Given the description of an element on the screen output the (x, y) to click on. 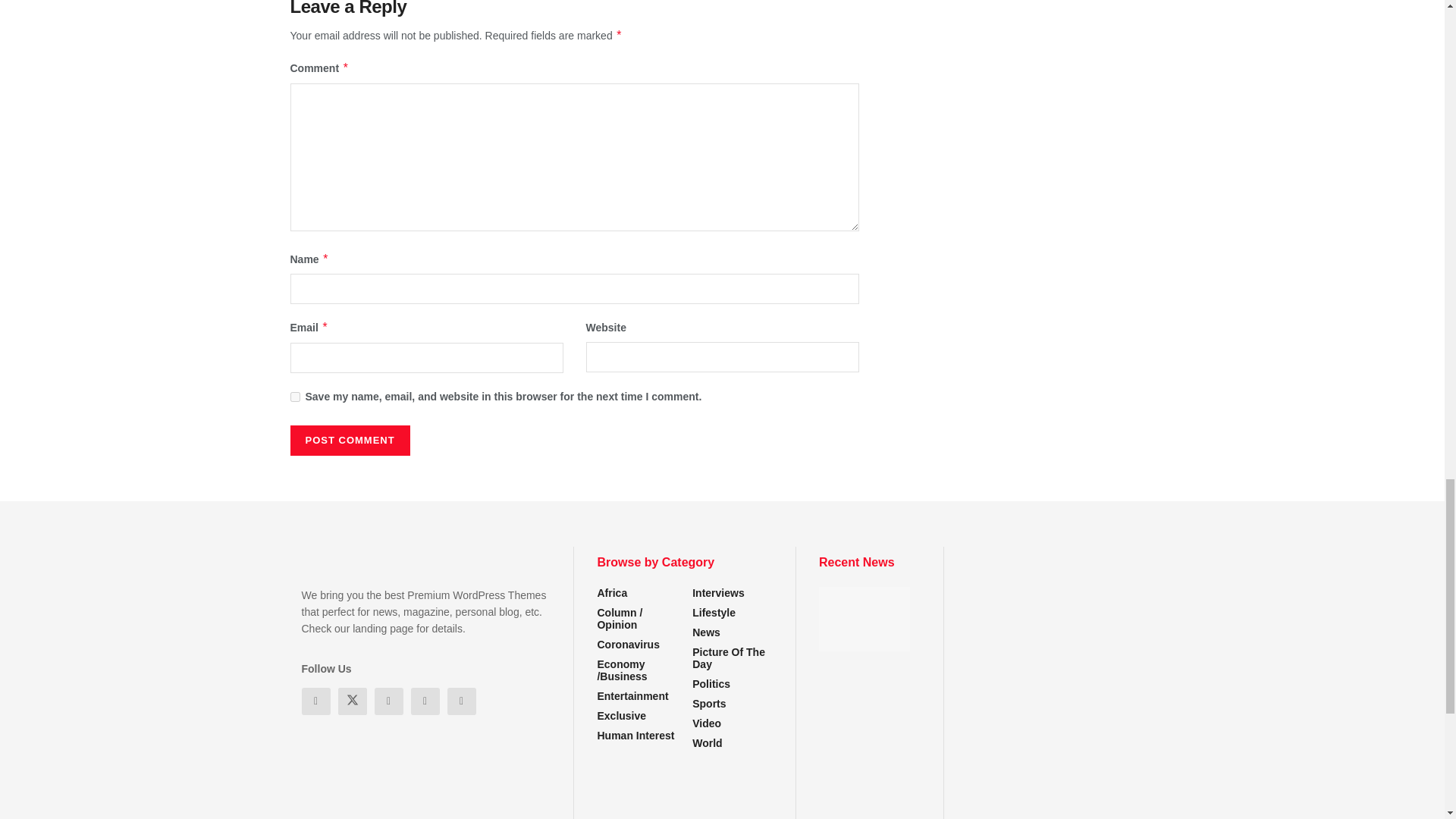
Post Comment (349, 440)
yes (294, 397)
